Given the description of an element on the screen output the (x, y) to click on. 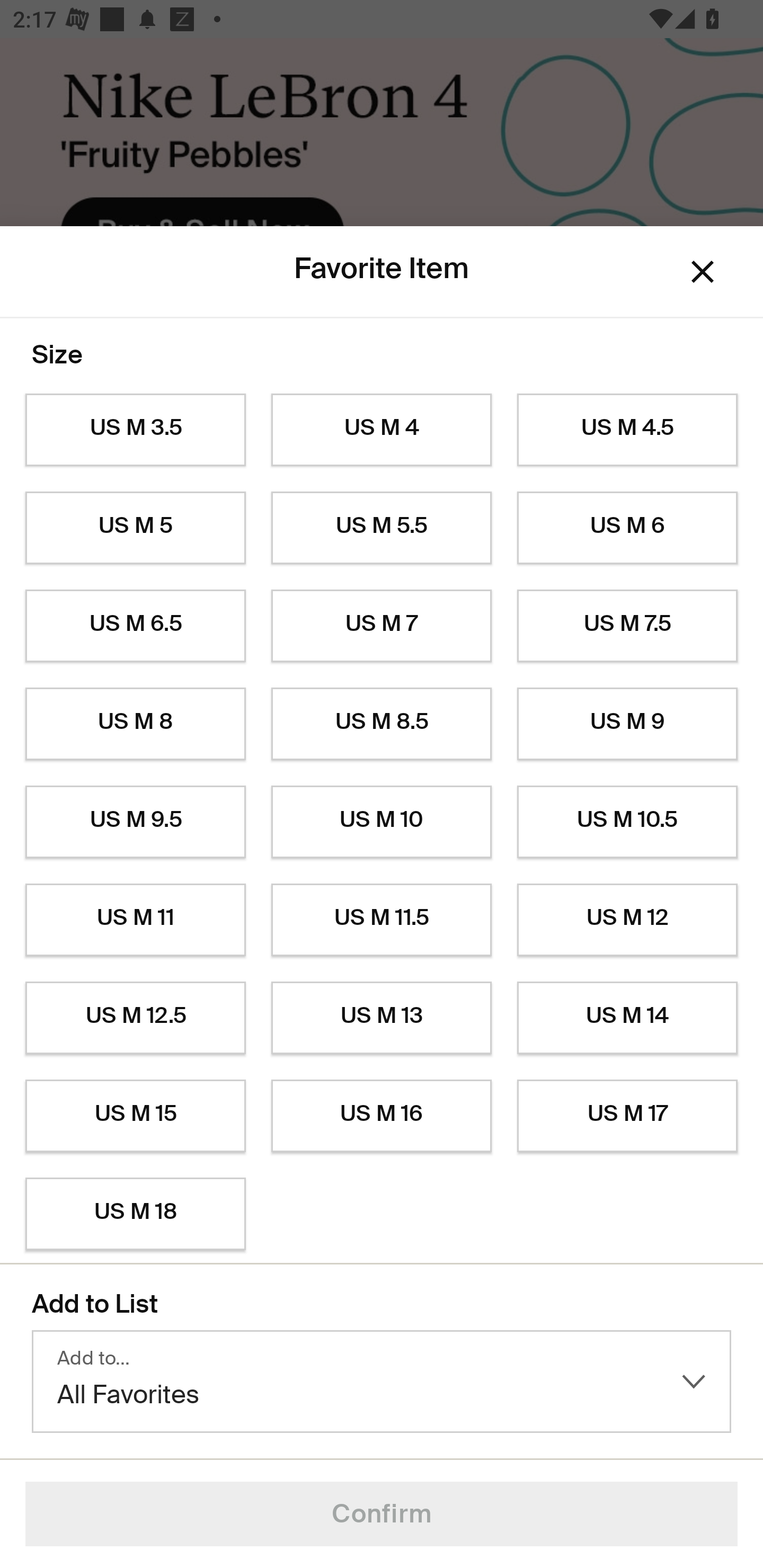
Dismiss (702, 271)
US M 3.5 (135, 430)
US M 4 (381, 430)
US M 4.5 (627, 430)
US M 5 (135, 527)
US M 5.5 (381, 527)
US M 6 (627, 527)
US M 6.5 (135, 626)
US M 7 (381, 626)
US M 7.5 (627, 626)
US M 8 (135, 724)
US M 8.5 (381, 724)
US M 9 (627, 724)
US M 9.5 (135, 822)
US M 10 (381, 822)
US M 10.5 (627, 822)
US M 11 (135, 919)
US M 11.5 (381, 919)
US M 12 (627, 919)
US M 12.5 (135, 1018)
US M 13 (381, 1018)
US M 14 (627, 1018)
US M 15 (135, 1116)
US M 16 (381, 1116)
US M 17 (627, 1116)
US M 18 (135, 1214)
Add to… All Favorites (381, 1381)
Confirm (381, 1513)
